Given the description of an element on the screen output the (x, y) to click on. 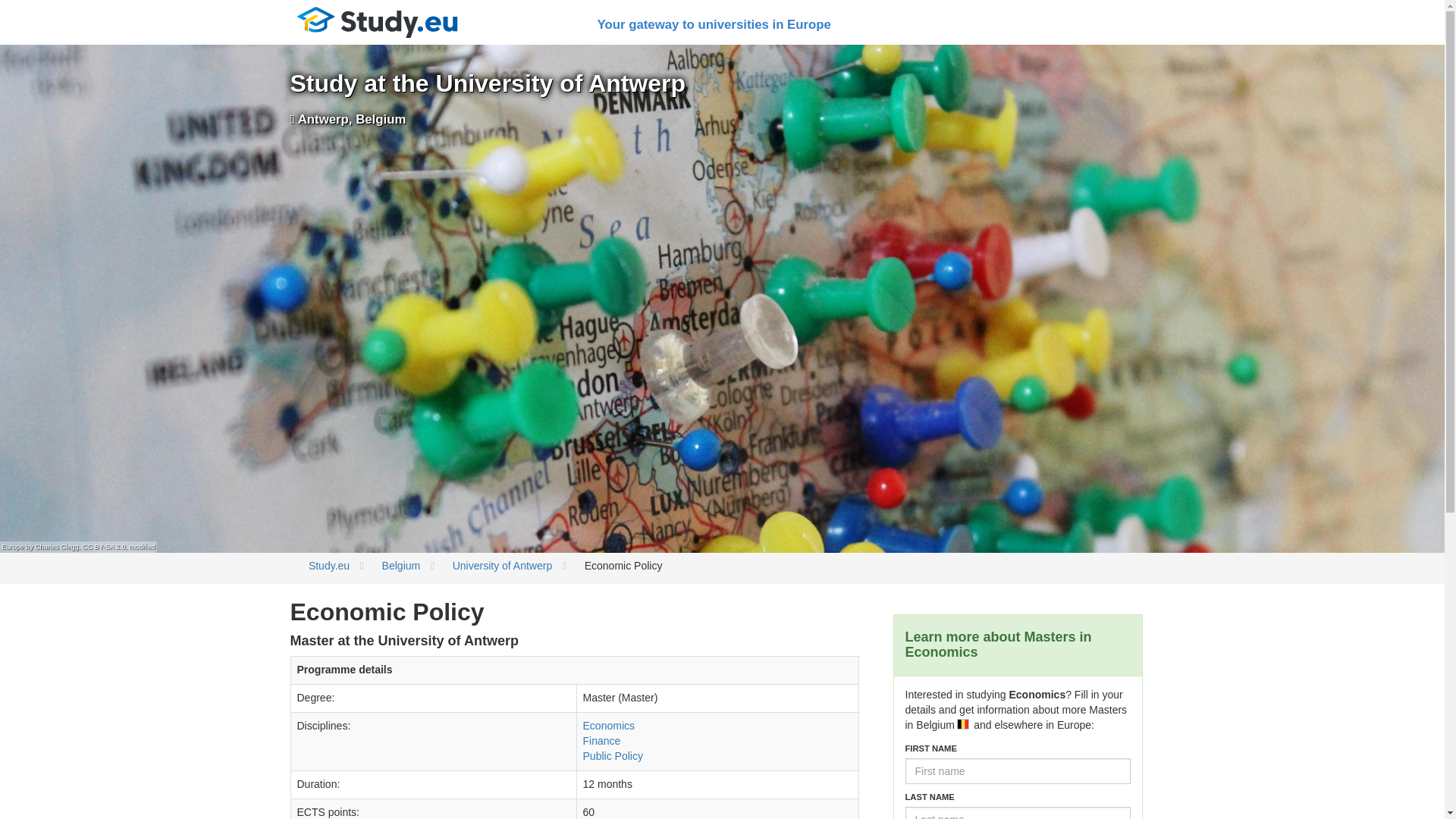
Find more Masters in Economics (608, 725)
Find more Masters in Public Policy (613, 756)
University of Antwerp (502, 565)
Economics (608, 725)
Finance (602, 740)
Public Policy (613, 756)
Belgium (400, 565)
Europe (12, 546)
CC BY-SA 2.0 (103, 546)
Study.eu (328, 565)
Belgium - Flag (962, 724)
Find more Masters in Finance (602, 740)
Study.eu (376, 22)
